Given the description of an element on the screen output the (x, y) to click on. 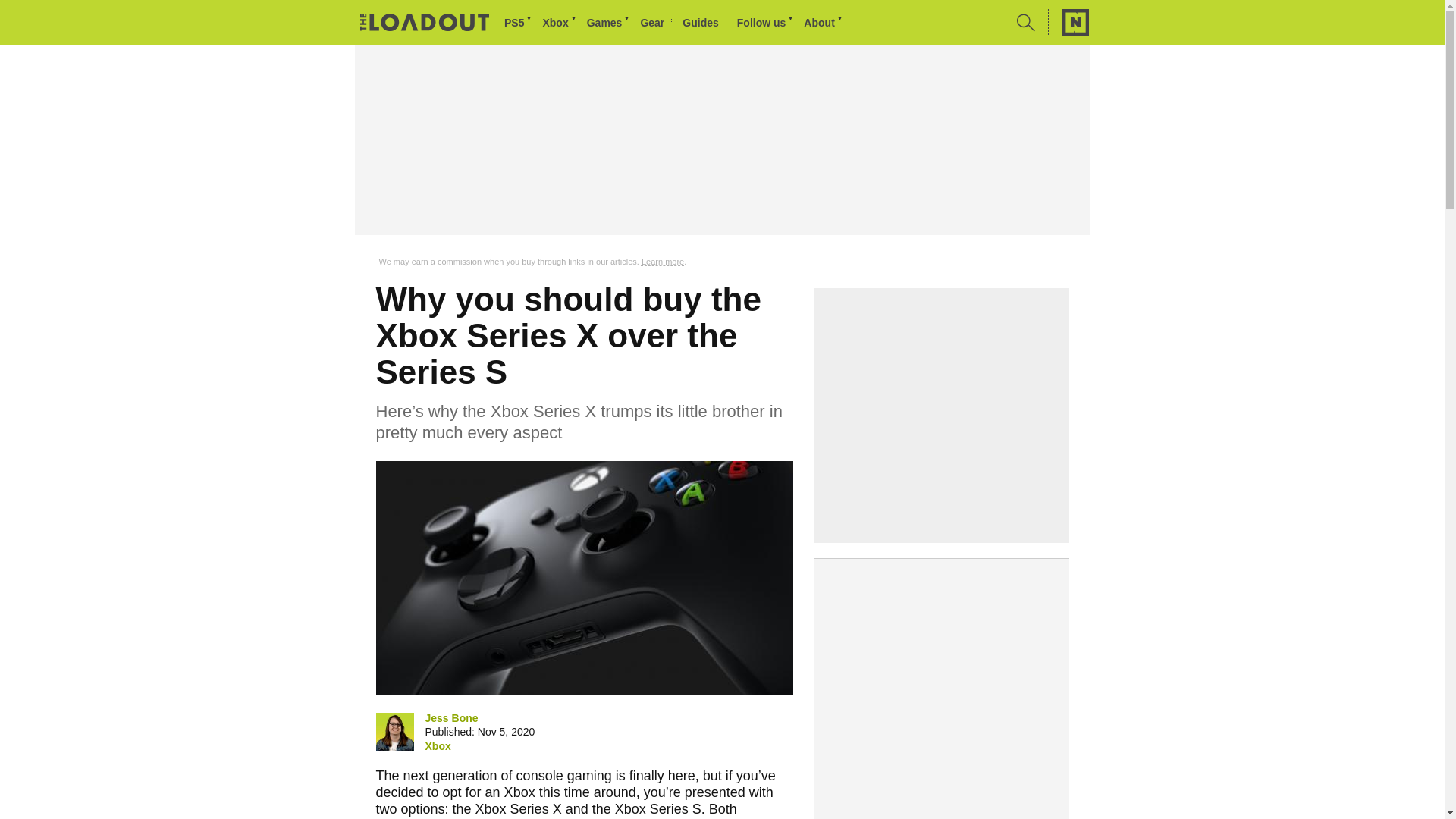
The Loadout (424, 24)
Why you should buy the Xbox Series X over the Series S (584, 578)
Xbox (437, 746)
Jess Bone (451, 717)
Jess Bone (394, 731)
Learn more (663, 261)
Games (608, 22)
Follow The Loadout (765, 22)
Game Guides (704, 22)
Guides (704, 22)
